Given the description of an element on the screen output the (x, y) to click on. 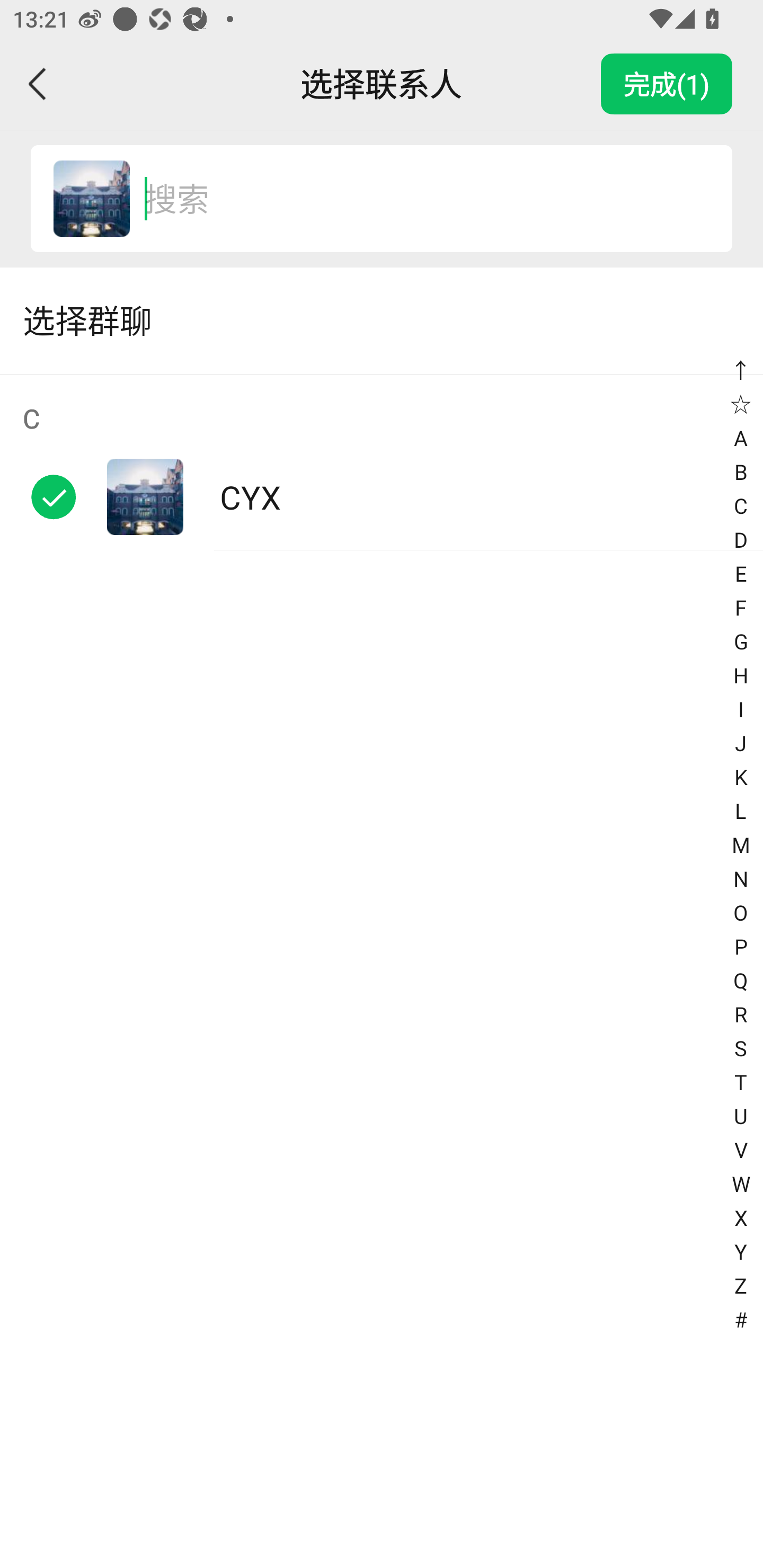
返回 (38, 83)
完成(1) (666, 83)
CYX (91, 198)
搜索 (418, 198)
选择群聊 (381, 320)
C CYX (381, 462)
